Given the description of an element on the screen output the (x, y) to click on. 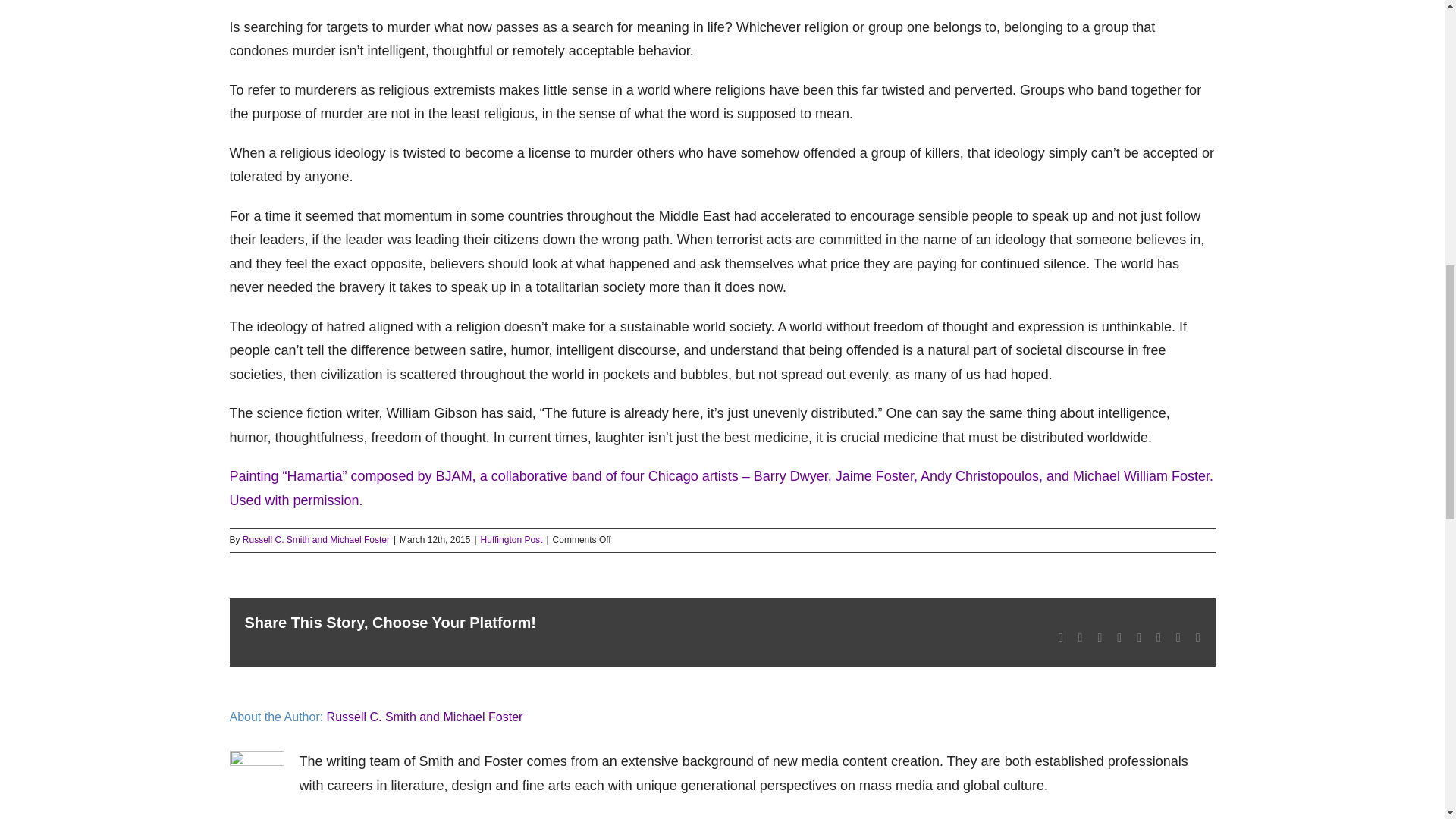
Posts by Russell C. Smith and Michael Foster (424, 716)
Posts by Russell C. Smith and Michael Foster (316, 539)
